Given the description of an element on the screen output the (x, y) to click on. 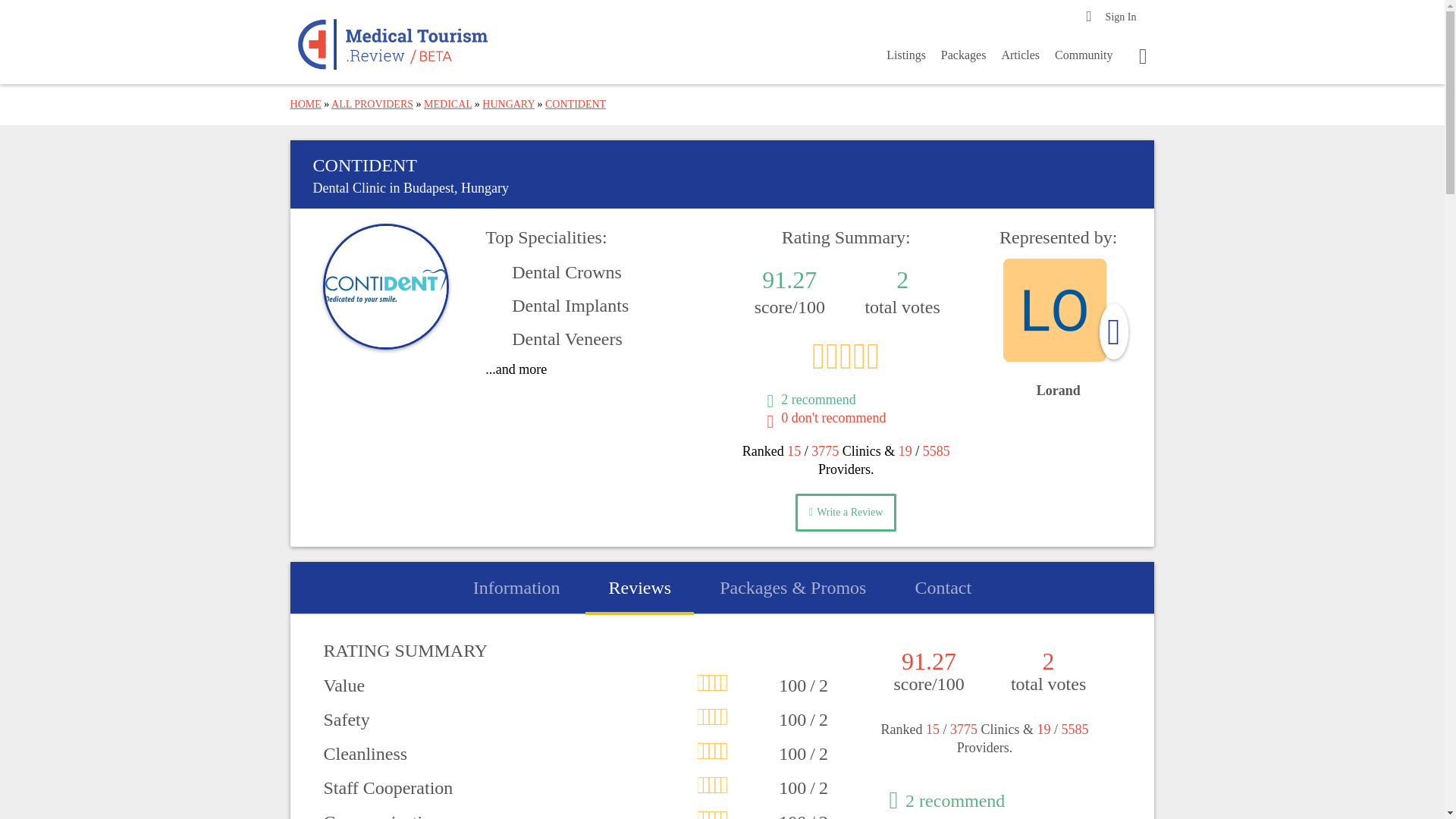
Logo of Contident in Hungary (385, 286)
CONTIDENT (574, 103)
HUNGARY (507, 103)
Home (392, 43)
Contact (942, 587)
Dental Implants (556, 305)
Reviews (639, 587)
Search (25, 12)
Information (516, 587)
Dental Veneers (553, 338)
ALL PROVIDERS (372, 103)
Dental Crowns (552, 272)
Community (1082, 59)
Sign In (1118, 16)
